Given the description of an element on the screen output the (x, y) to click on. 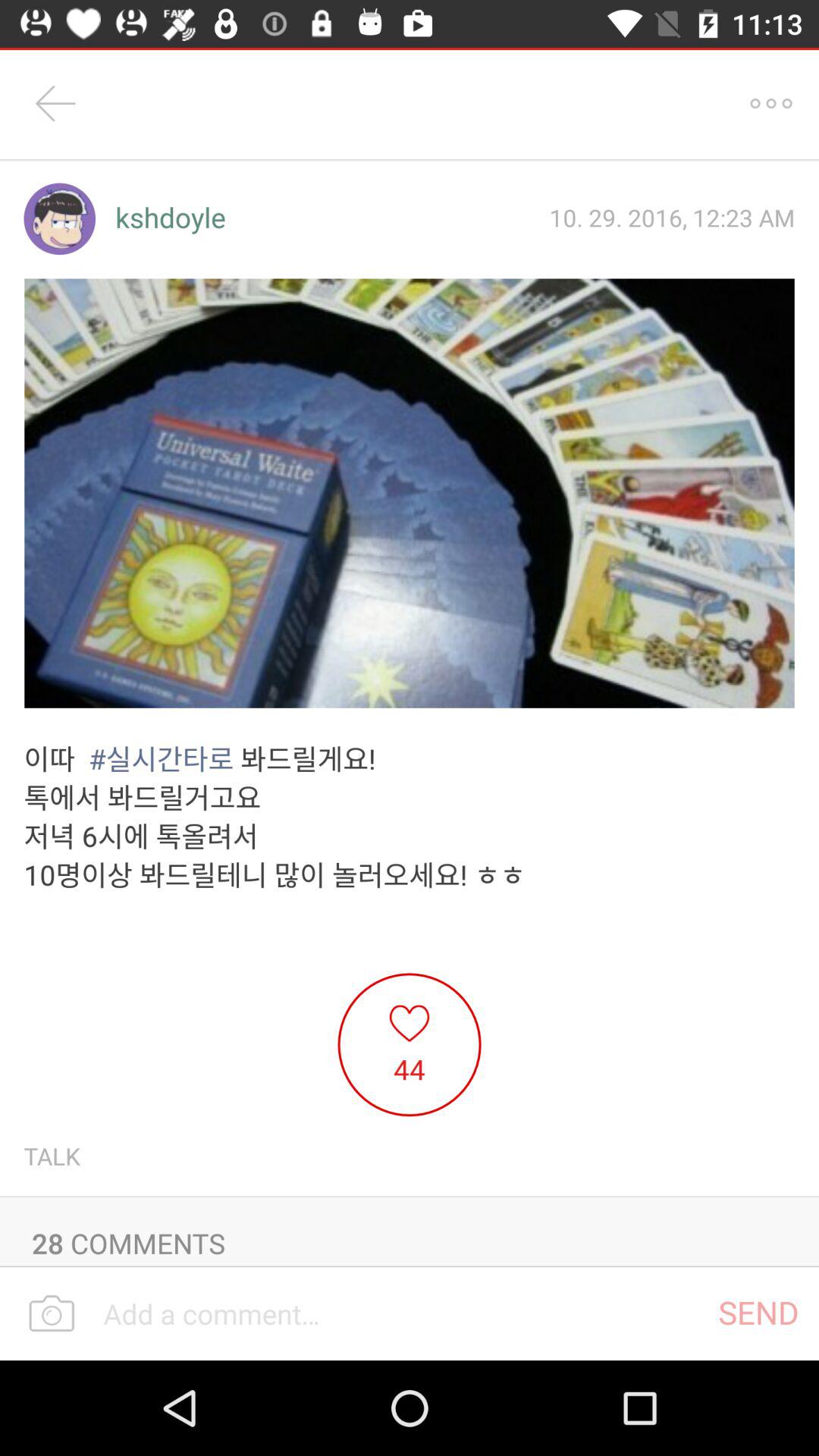
choose the kshdoyle item (170, 218)
